Given the description of an element on the screen output the (x, y) to click on. 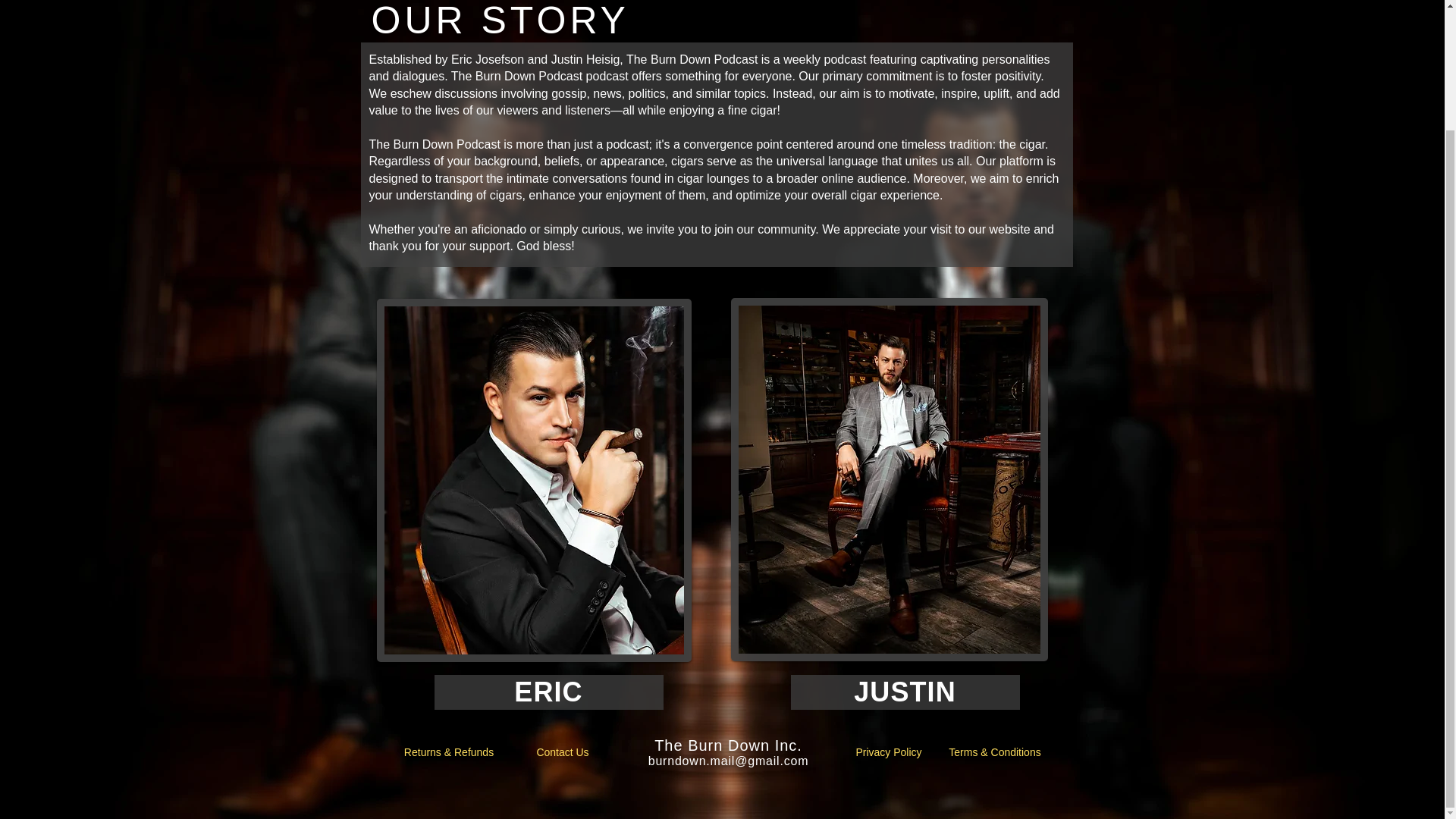
Contact Us (561, 752)
Privacy Policy (888, 752)
